Given the description of an element on the screen output the (x, y) to click on. 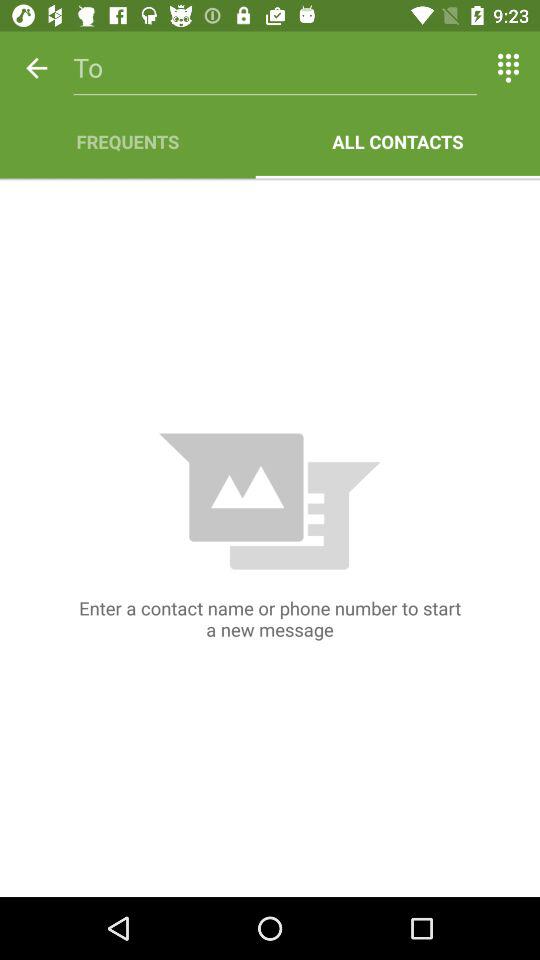
scroll to frequents app (127, 141)
